Given the description of an element on the screen output the (x, y) to click on. 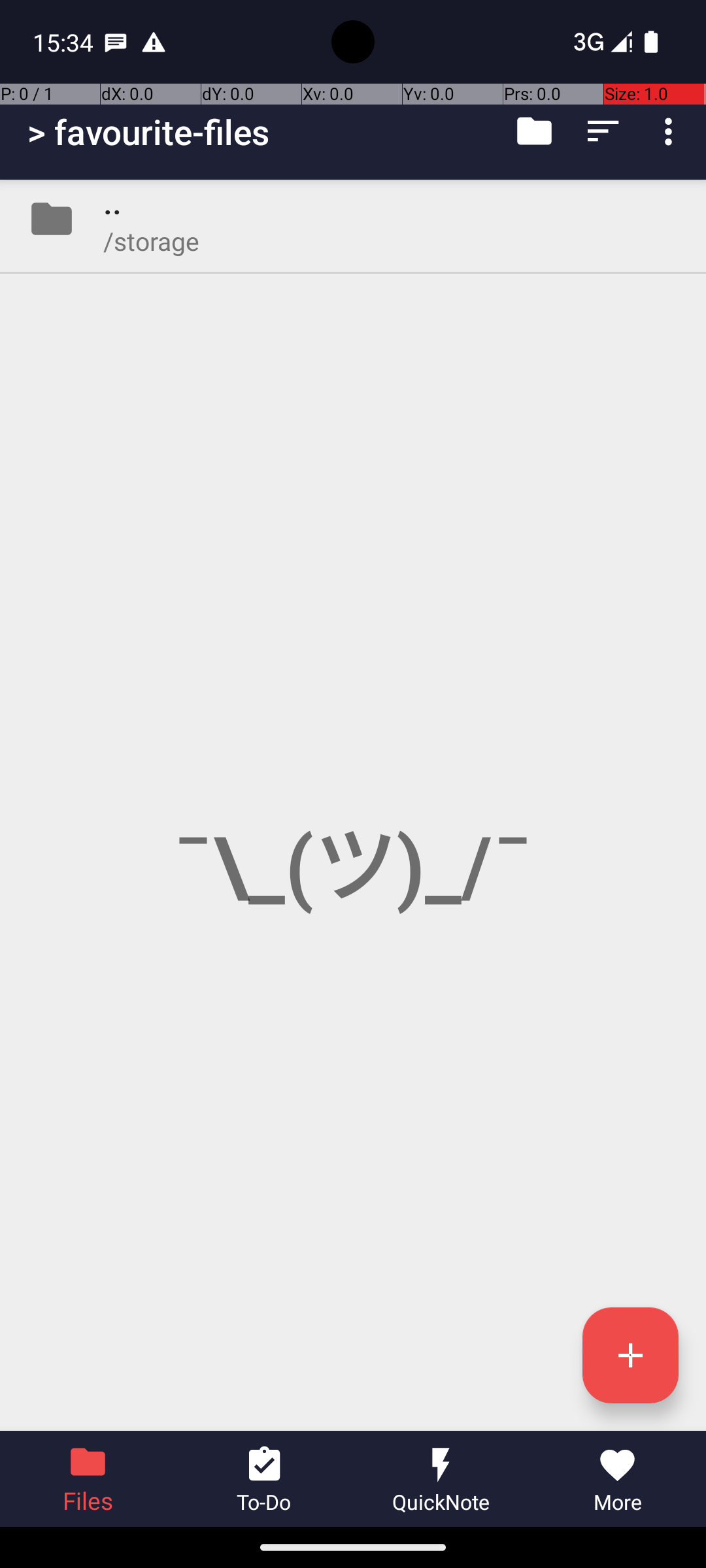
> favourite-files Element type: android.widget.TextView (148, 131)
